Given the description of an element on the screen output the (x, y) to click on. 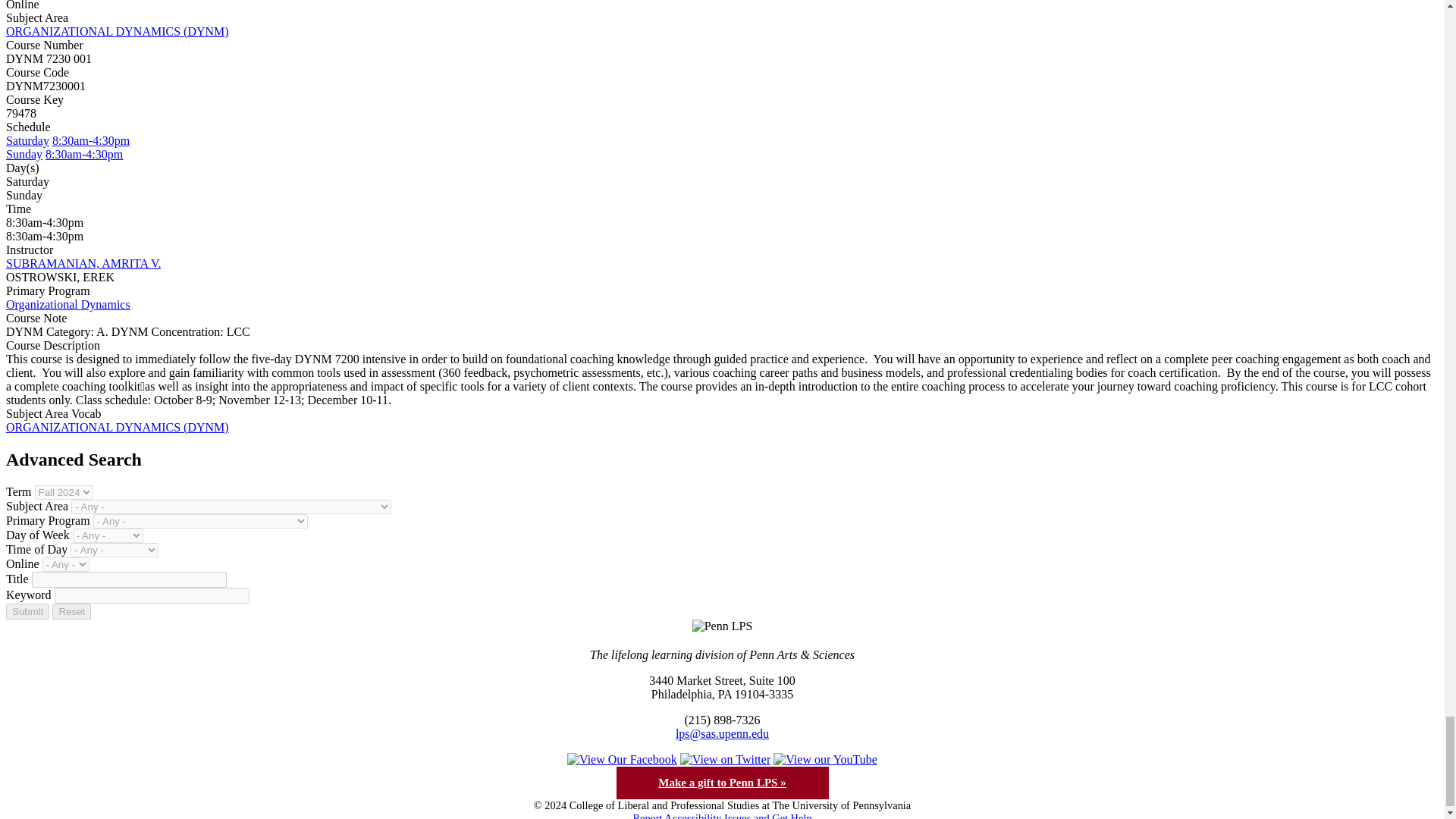
Courses offered from 8:30am-4:30pm (90, 140)
Courses offered on Saturday (27, 140)
Reset (71, 611)
Courses offered from 8:30am-4:30pm (83, 154)
Courses offered on Sunday (23, 154)
Submit (27, 611)
